Given the description of an element on the screen output the (x, y) to click on. 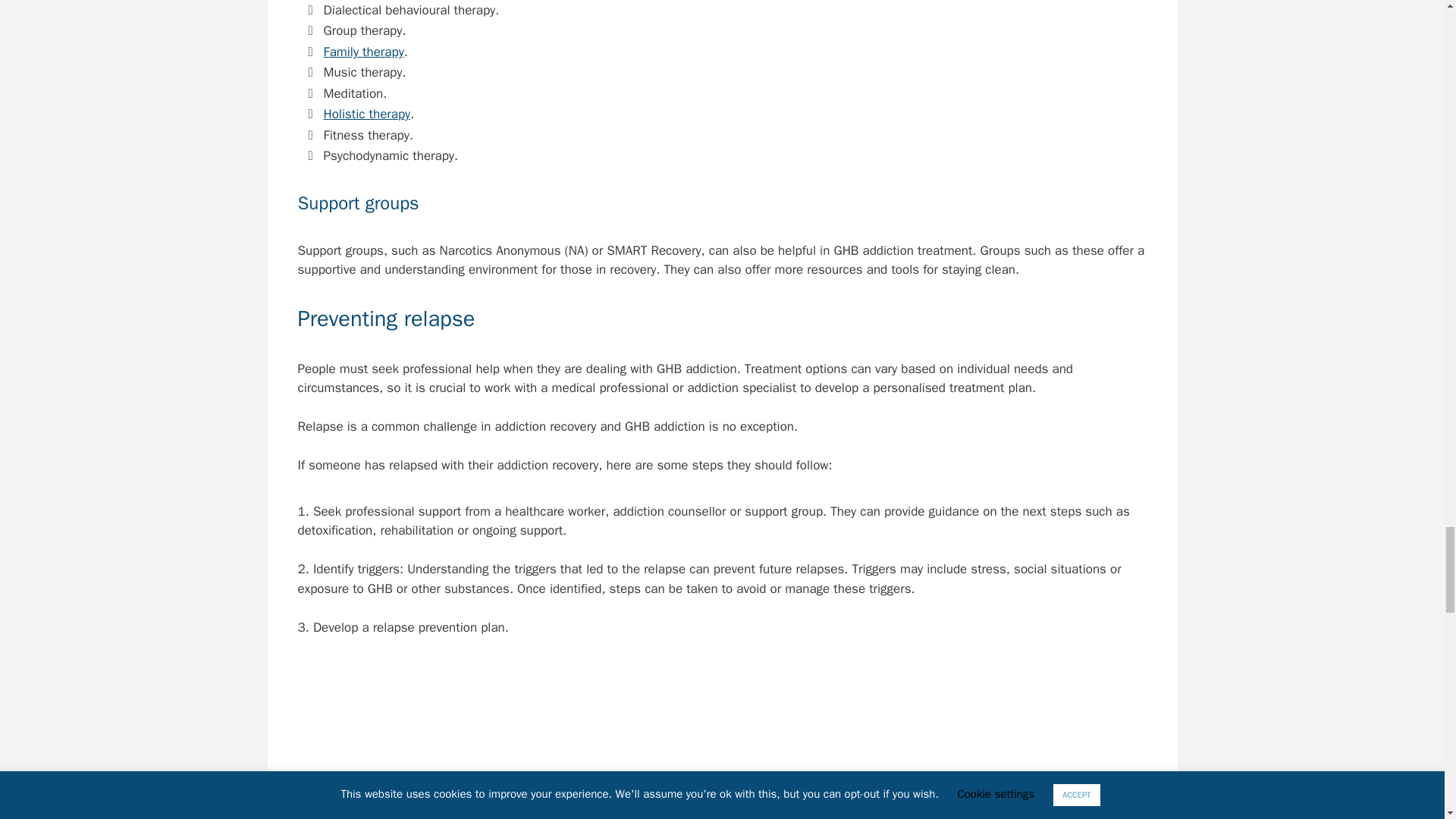
Counselling for drug addiction. (722, 741)
